Given the description of an element on the screen output the (x, y) to click on. 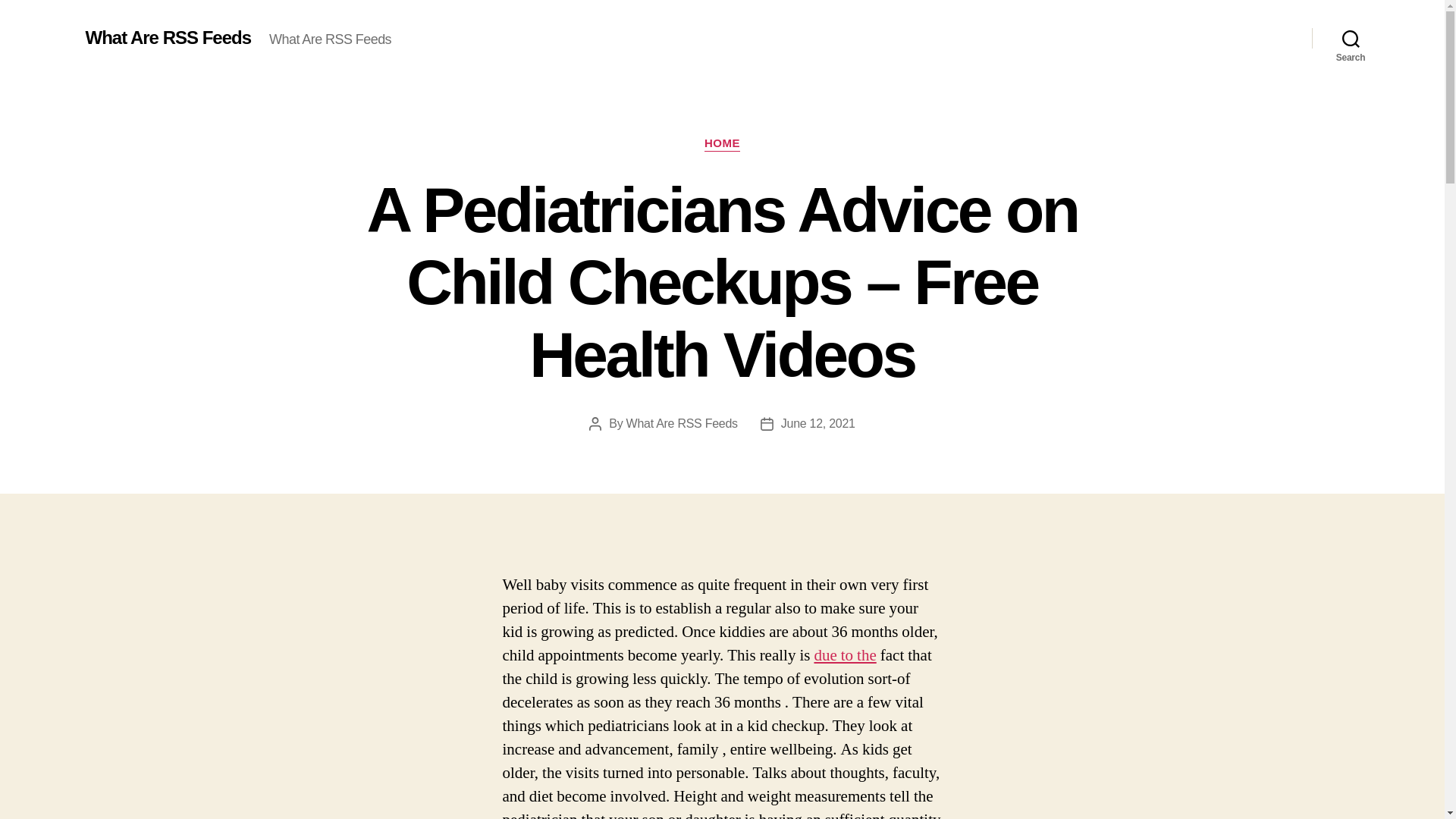
Search (1350, 37)
due to the (844, 655)
HOME (721, 143)
June 12, 2021 (818, 422)
What Are RSS Feeds (682, 422)
What Are RSS Feeds (167, 37)
